Given the description of an element on the screen output the (x, y) to click on. 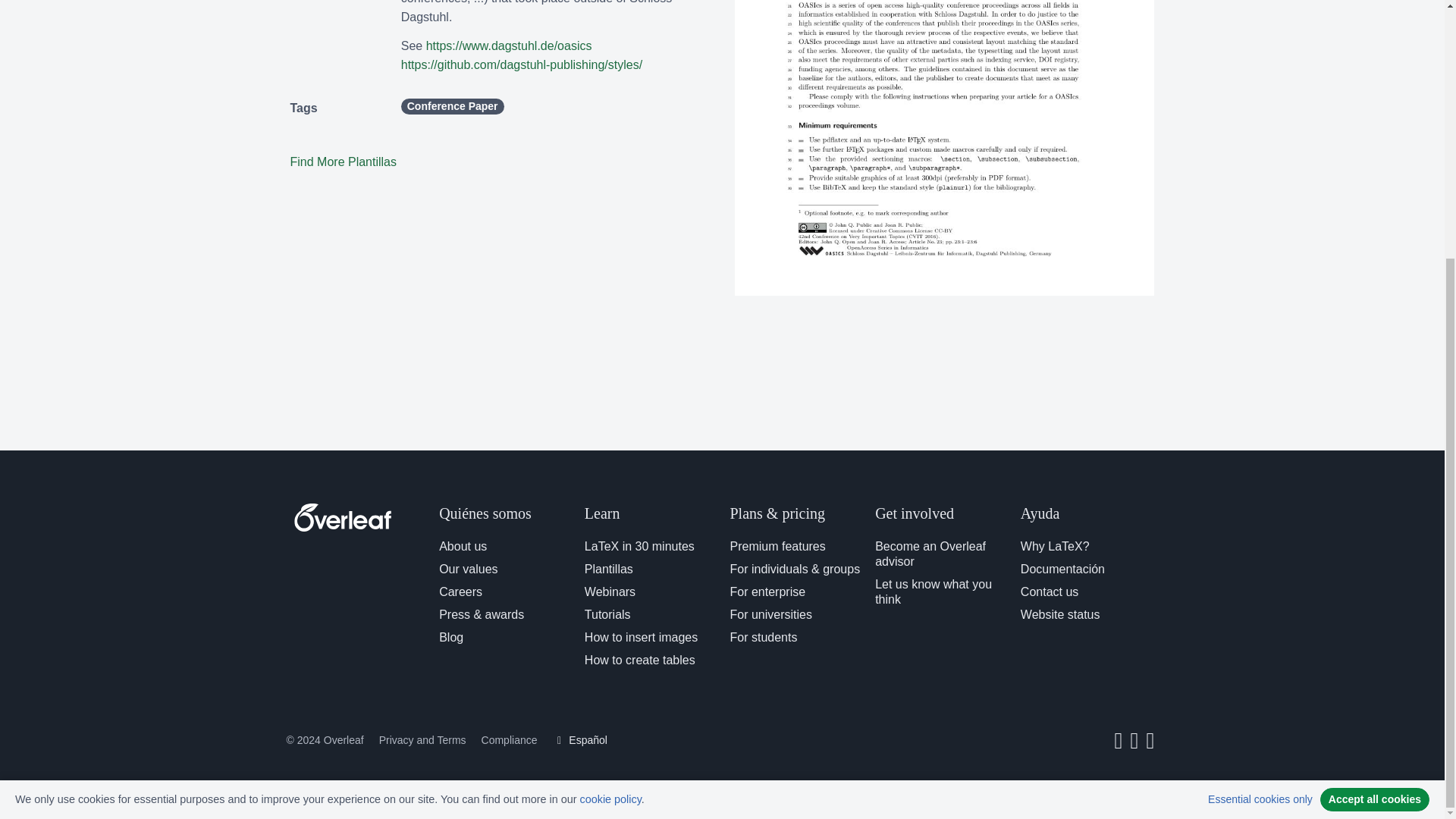
Conference Paper (452, 106)
LaTeX in 30 minutes (639, 545)
How to create tables (640, 659)
How to insert images (641, 636)
Our values (468, 568)
Find More Plantillas (342, 161)
Webinars (609, 591)
Premium features (777, 545)
Careers (460, 591)
About us (462, 545)
